Given the description of an element on the screen output the (x, y) to click on. 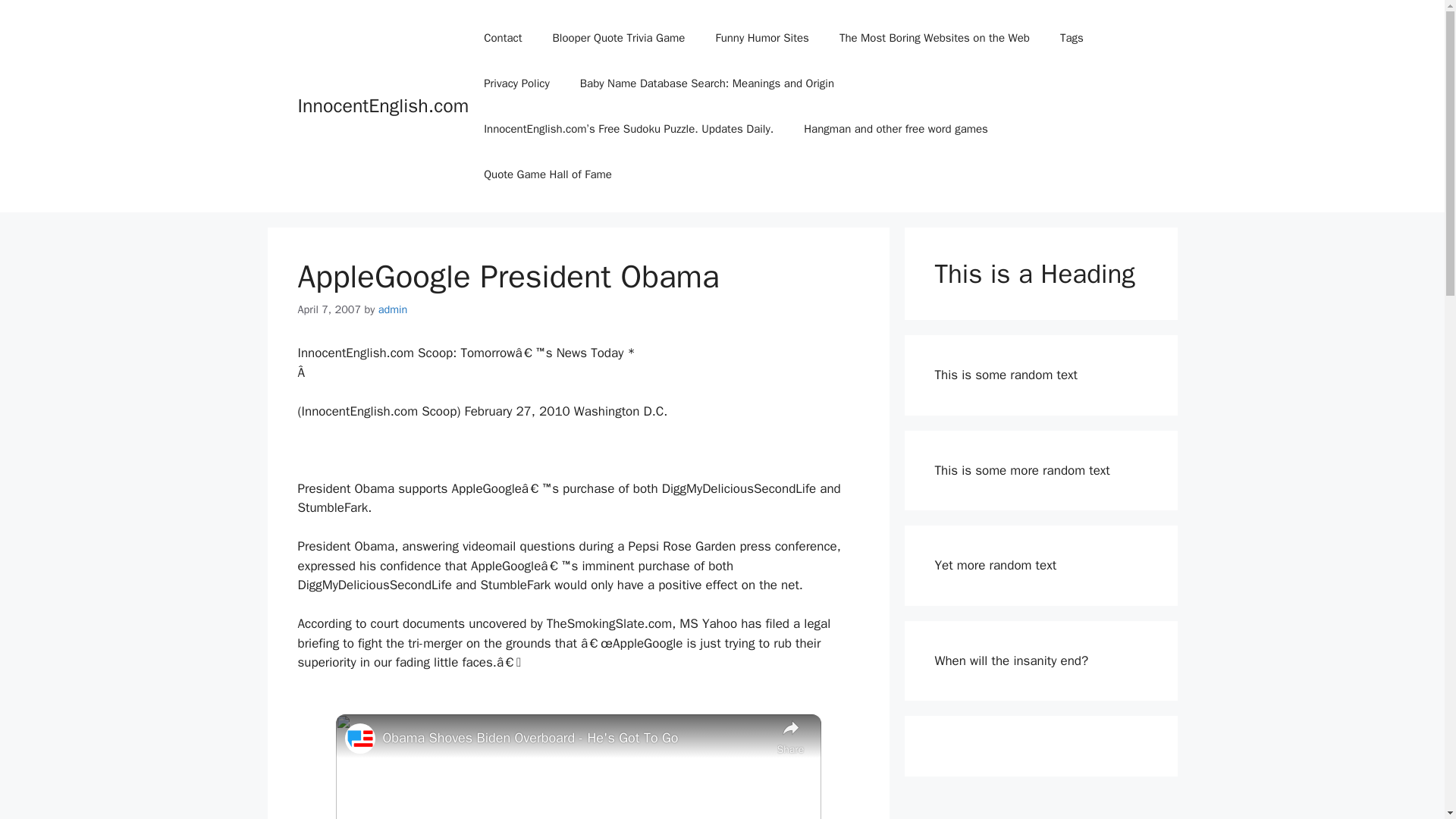
share (789, 735)
Baby Name Database Search: Meanings and Origin (706, 83)
Quote Game Hall of Fame (547, 174)
Obama Shoves Biden Overboard - He's Got To Go (574, 738)
Hangman and other free word games (896, 128)
View all posts by admin (392, 309)
Blooper Quote Trivia Game (618, 37)
InnocentEnglish.com (382, 105)
Funny Humor Sites (762, 37)
Share (789, 735)
admin (392, 309)
Privacy Policy (516, 83)
The Most Boring Websites on the Web (934, 37)
Tags (1072, 37)
Contact (502, 37)
